Given the description of an element on the screen output the (x, y) to click on. 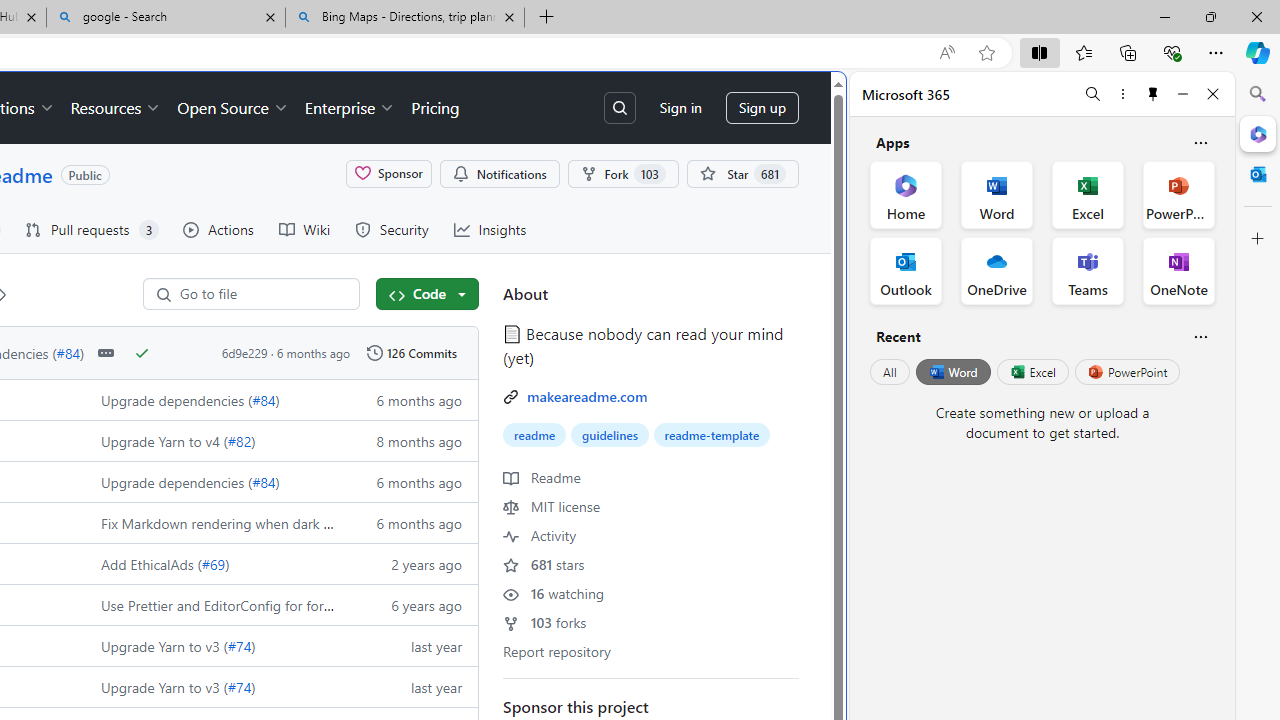
Actions (218, 229)
Pull requests3 (91, 229)
guidelines (609, 435)
8 months ago (409, 439)
Open commit details (106, 353)
#74 (239, 686)
Teams Office App (1087, 270)
Go to file (260, 293)
Sign up (761, 107)
Is this helpful? (1200, 336)
